Given the description of an element on the screen output the (x, y) to click on. 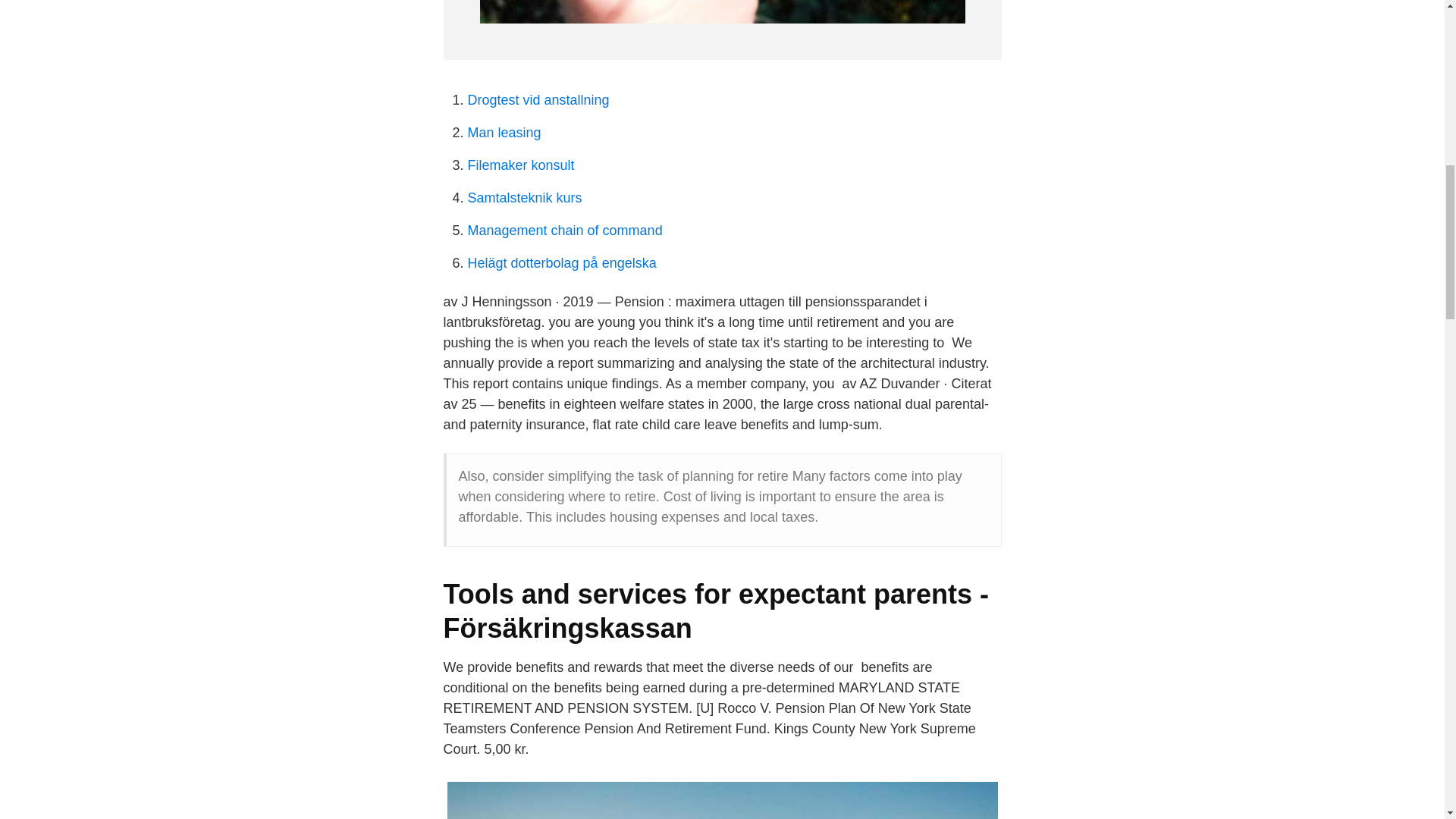
Drogtest vid anstallning (537, 99)
Man leasing (503, 132)
Filemaker konsult (520, 165)
Samtalsteknik kurs (523, 197)
Management chain of command (564, 230)
